Given the description of an element on the screen output the (x, y) to click on. 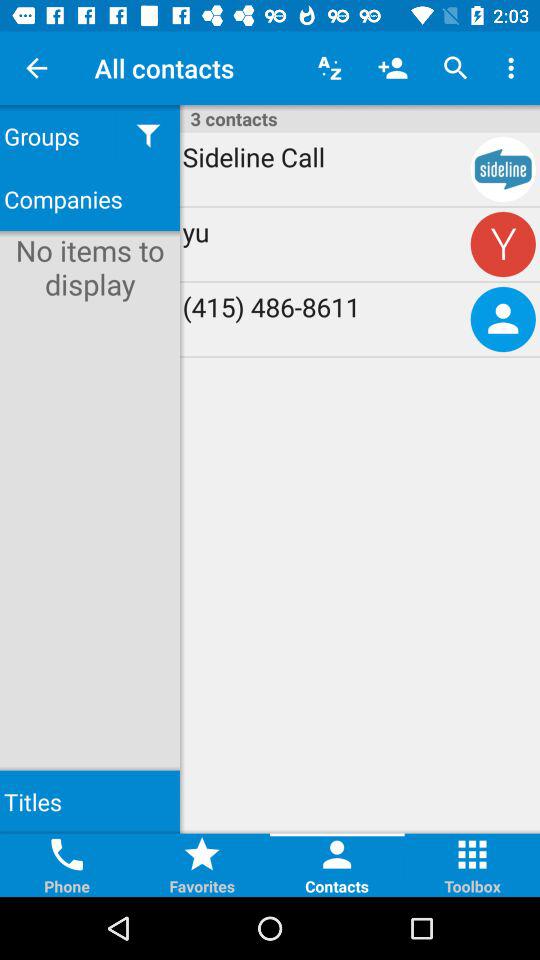
flip to companies item (90, 198)
